Given the description of an element on the screen output the (x, y) to click on. 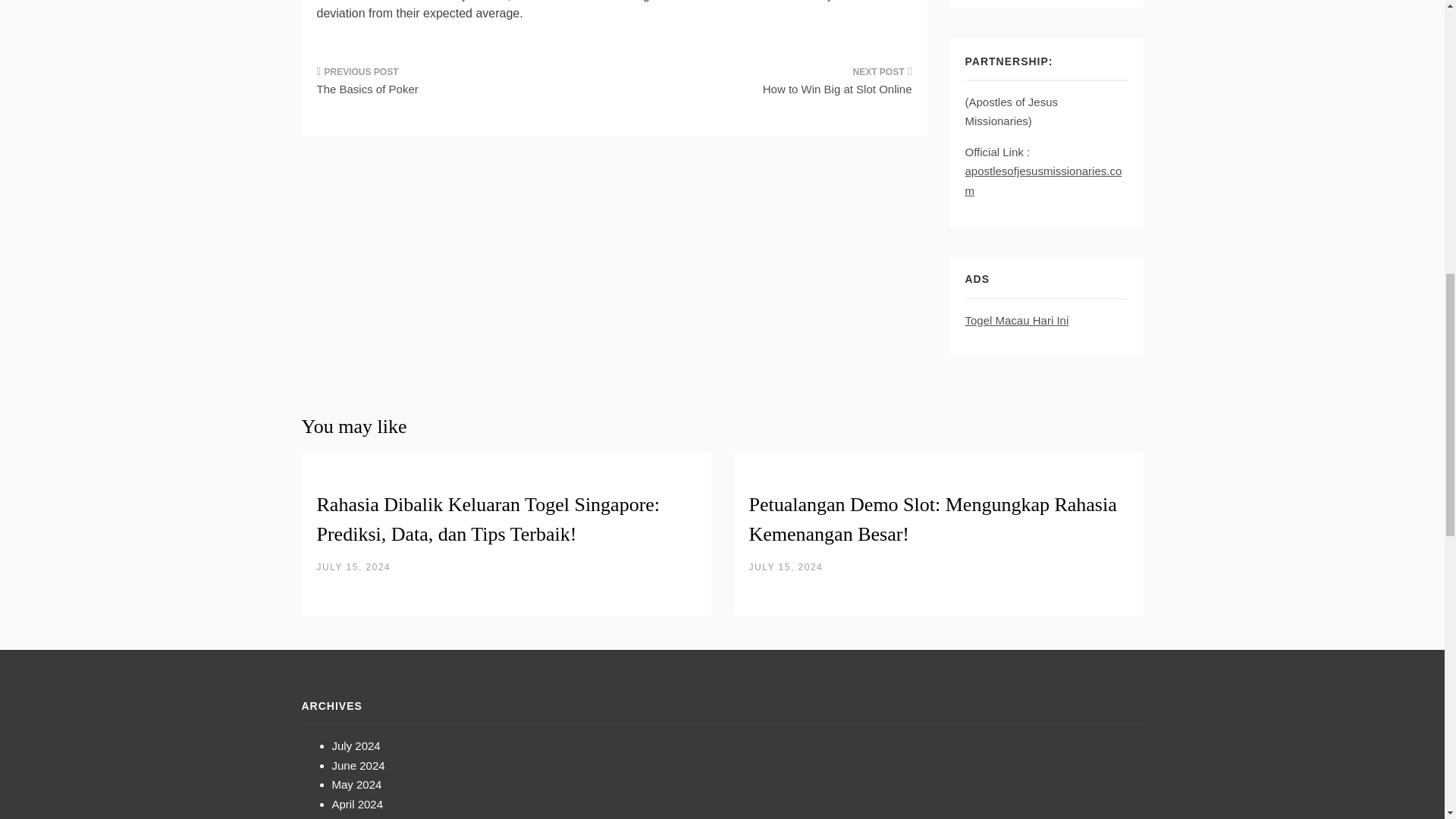
apostlesofjesusmissionaries.com (1042, 180)
May 2024 (356, 784)
The Basics of Poker (460, 85)
Petualangan Demo Slot: Mengungkap Rahasia Kemenangan Besar! (932, 519)
July 2024 (355, 745)
June 2024 (358, 765)
Togel Macau Hari Ini (1015, 319)
March 2024 (361, 817)
How to Win Big at Slot Online (769, 85)
April 2024 (357, 803)
